Given the description of an element on the screen output the (x, y) to click on. 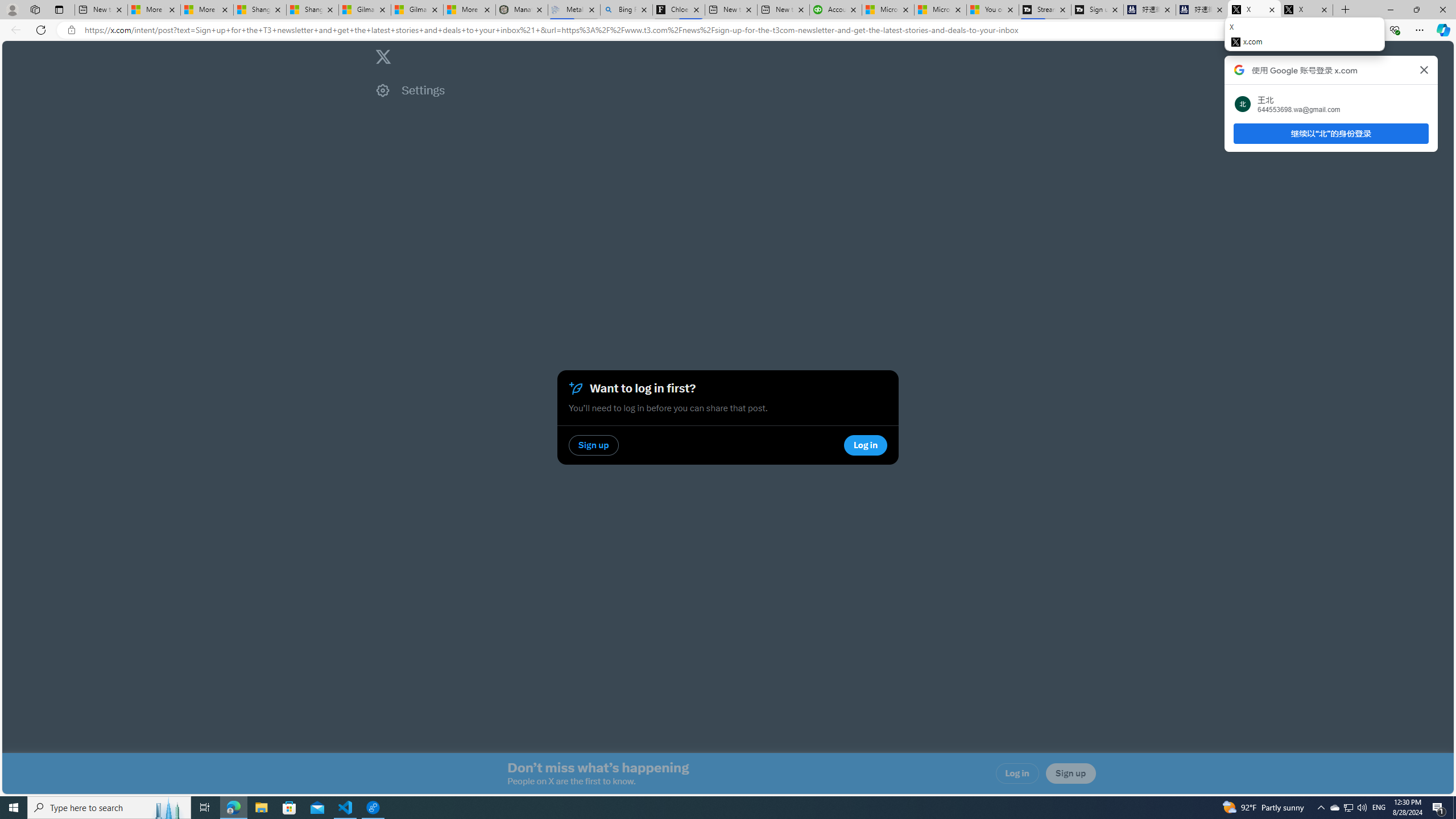
Bing Real Estate - Home sales and rental listings (626, 9)
Log in (1017, 773)
Sign up (1070, 773)
